Given the description of an element on the screen output the (x, y) to click on. 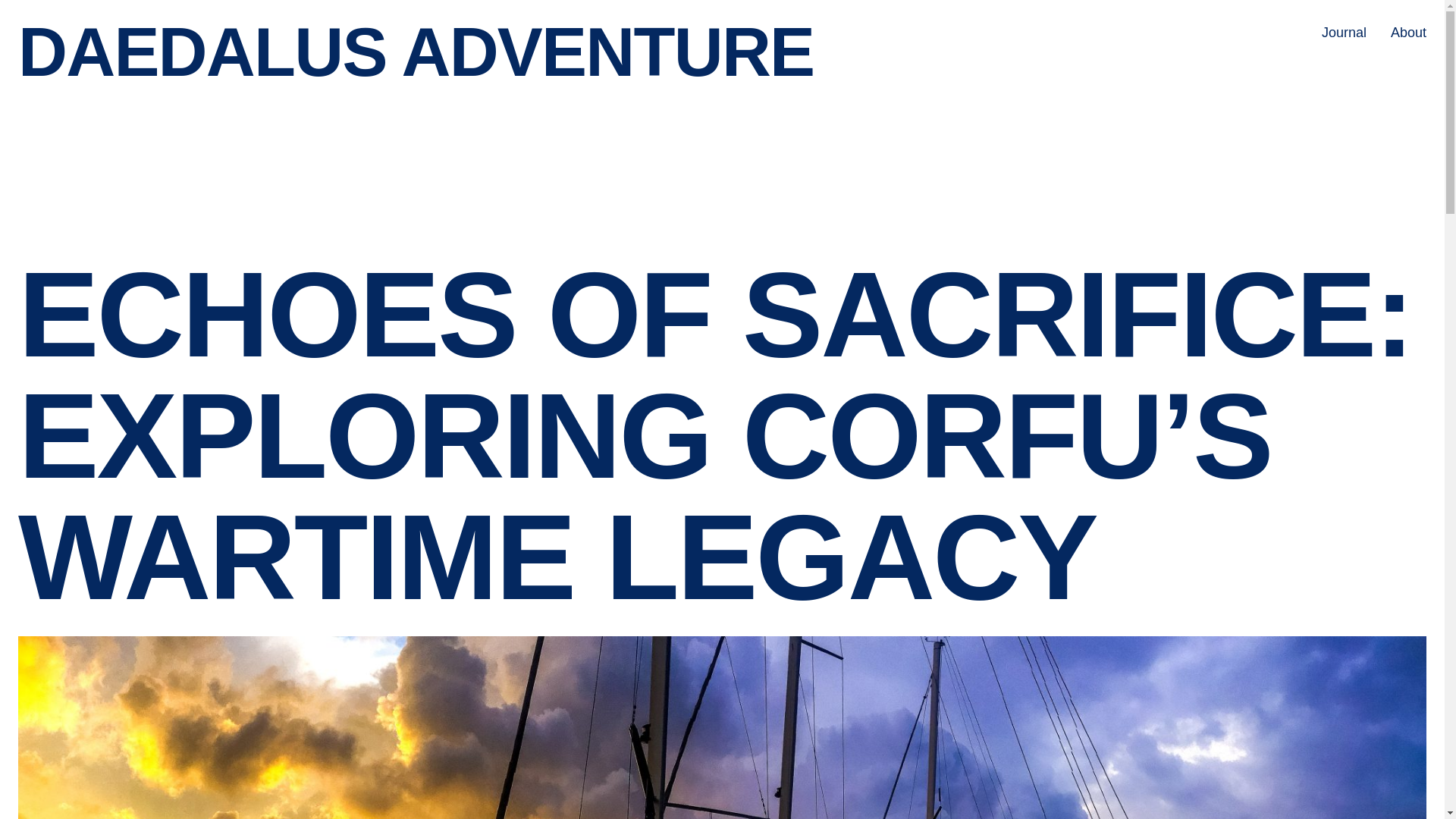
Journal (1344, 32)
DAEDALUS ADVENTURE (415, 52)
About (1408, 32)
